Given the description of an element on the screen output the (x, y) to click on. 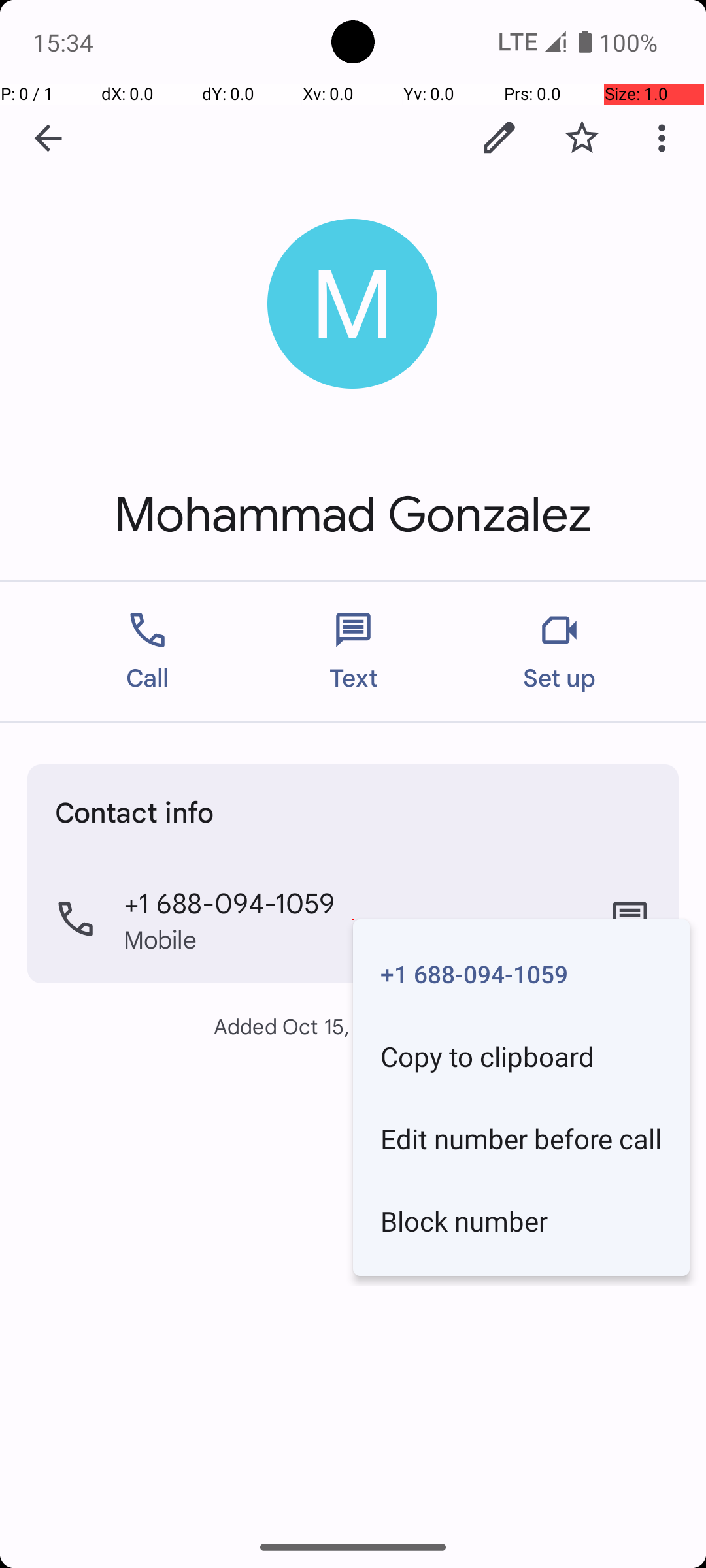
+1 688-094-1059 Element type: android.widget.TextView (521, 973)
Copy to clipboard Element type: android.widget.TextView (521, 1055)
Edit number before call Element type: android.widget.TextView (521, 1138)
Block number Element type: android.widget.TextView (521, 1220)
